Given the description of an element on the screen output the (x, y) to click on. 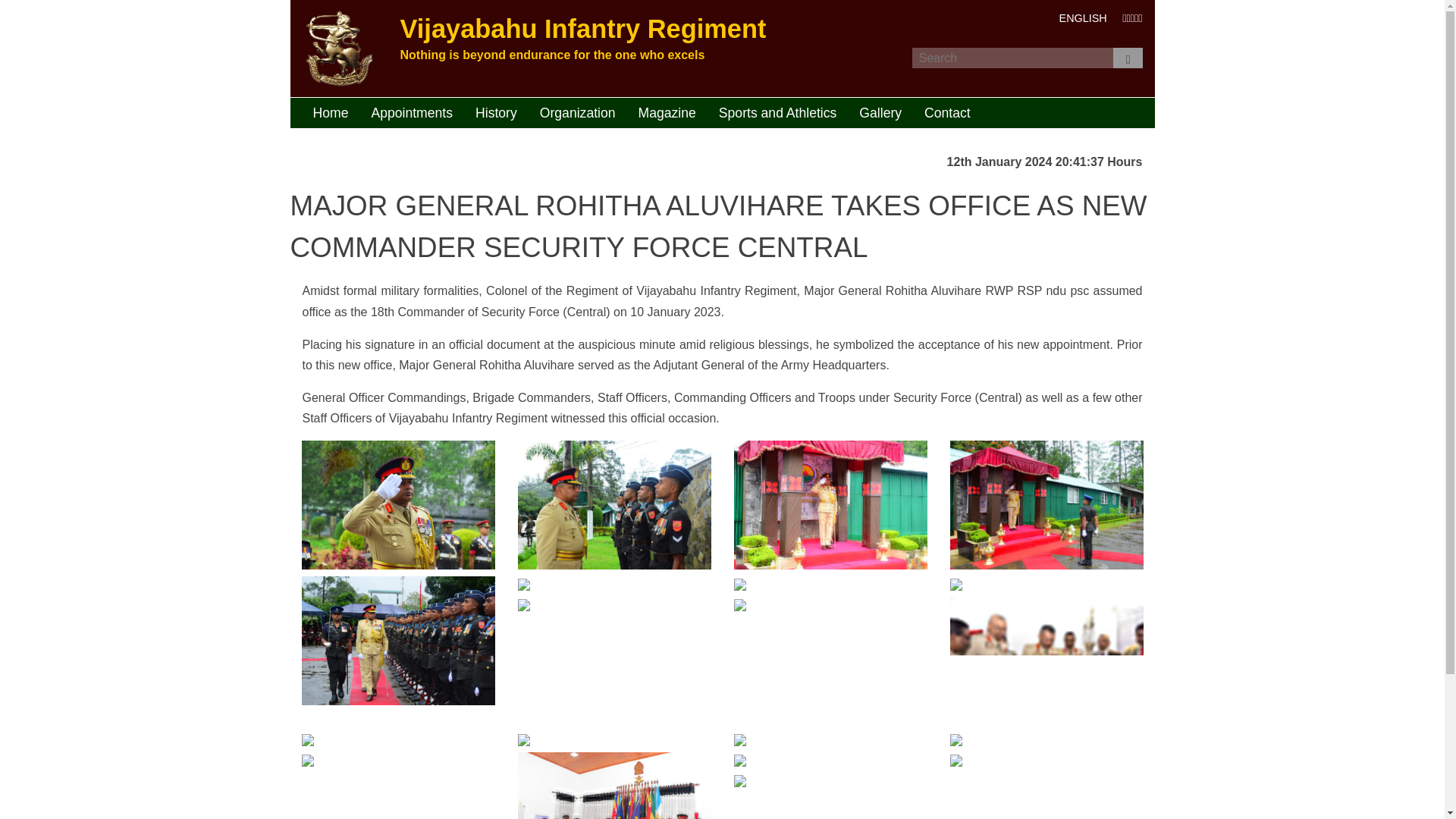
Sports and Athletics (777, 112)
History (496, 112)
Organization (577, 112)
Home (330, 112)
Magazine (667, 112)
Gallery (879, 112)
Contact (946, 112)
Appointments (411, 112)
ENGLISH (1082, 18)
